Given the description of an element on the screen output the (x, y) to click on. 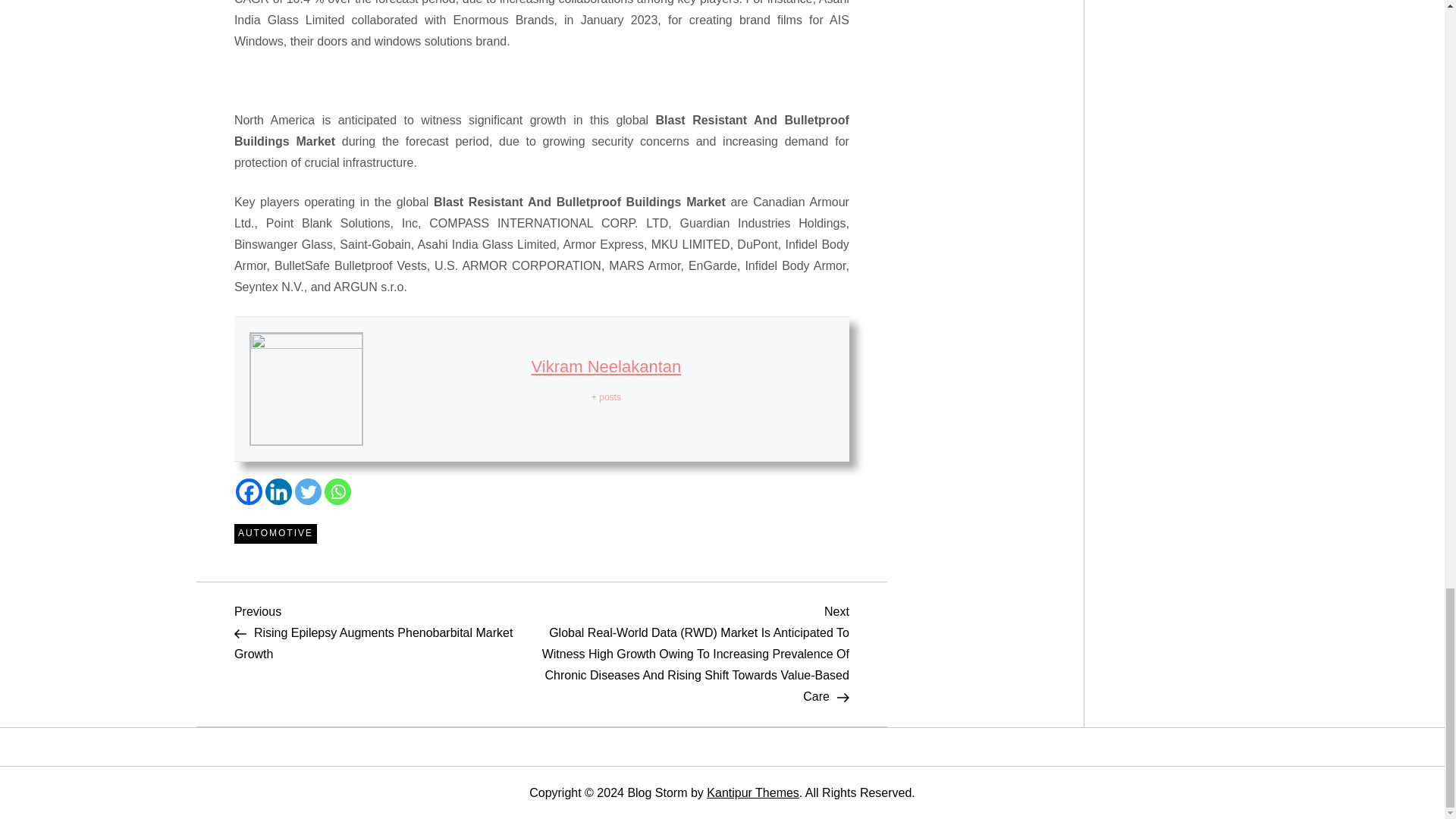
Kantipur Themes (752, 792)
Linkedin (278, 491)
AUTOMOTIVE (275, 533)
Whatsapp (337, 491)
Vikram Neelakantan (606, 366)
Facebook (248, 491)
Twitter (308, 491)
